Given the description of an element on the screen output the (x, y) to click on. 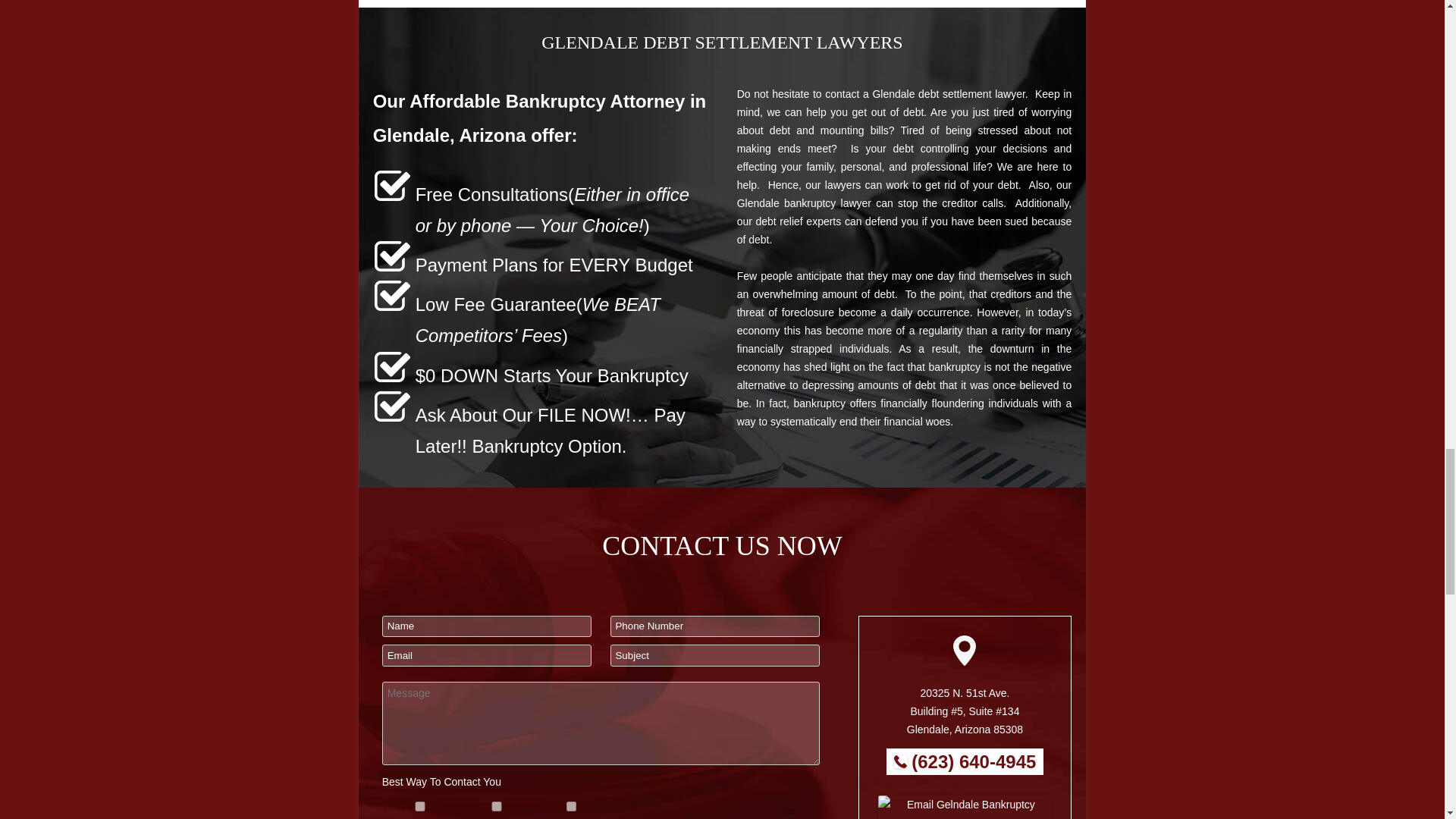
Text Message (496, 806)
Email (571, 806)
Phone (420, 806)
